Given the description of an element on the screen output the (x, y) to click on. 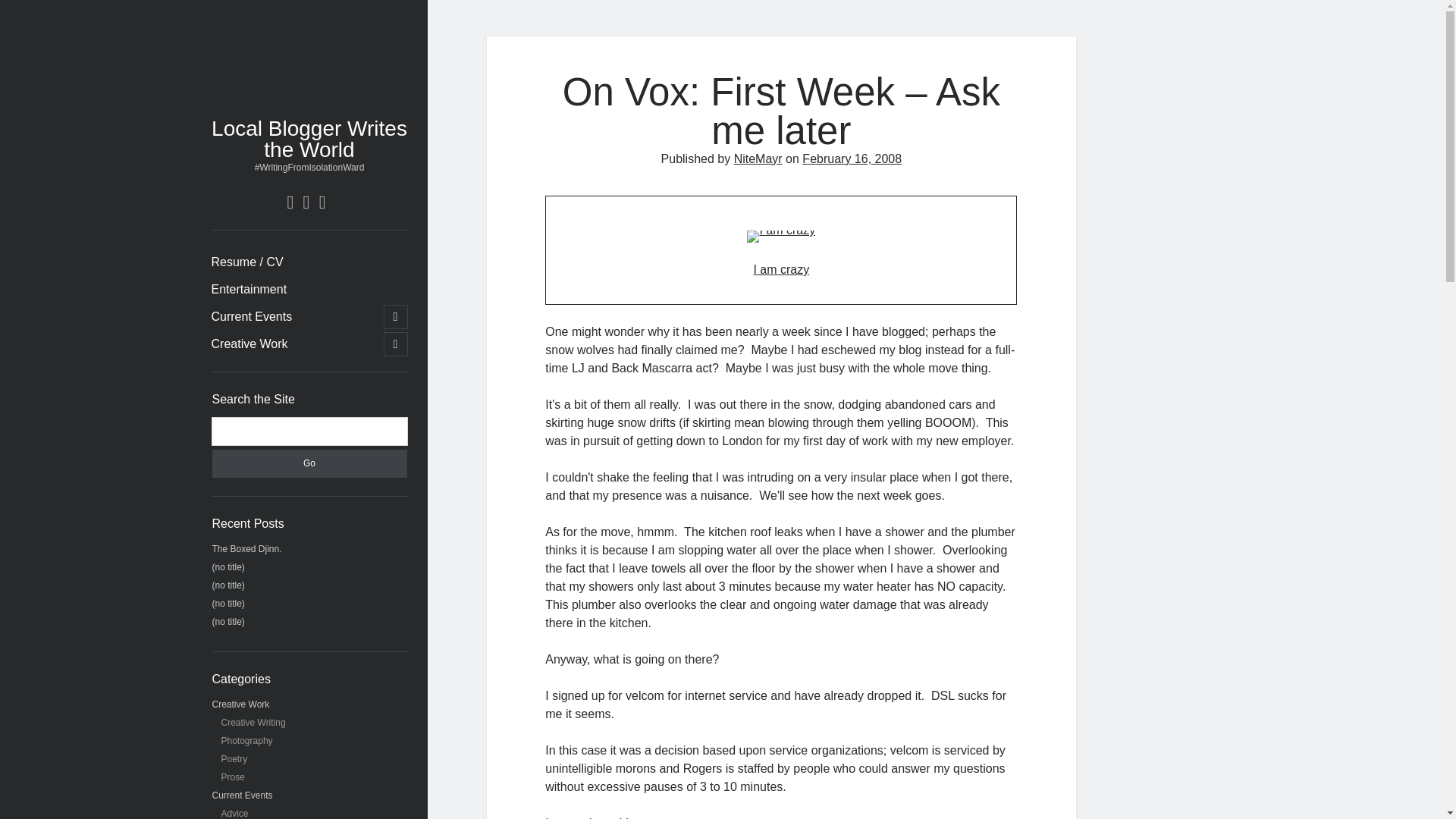
Entertainment (248, 289)
Go (309, 463)
Go (309, 463)
Advice (234, 813)
Current Events (251, 316)
Poetry (234, 758)
Local Blogger Writes the World (309, 139)
open child menu (395, 316)
The Boxed Djinn. (247, 548)
Search for: (309, 431)
